Given the description of an element on the screen output the (x, y) to click on. 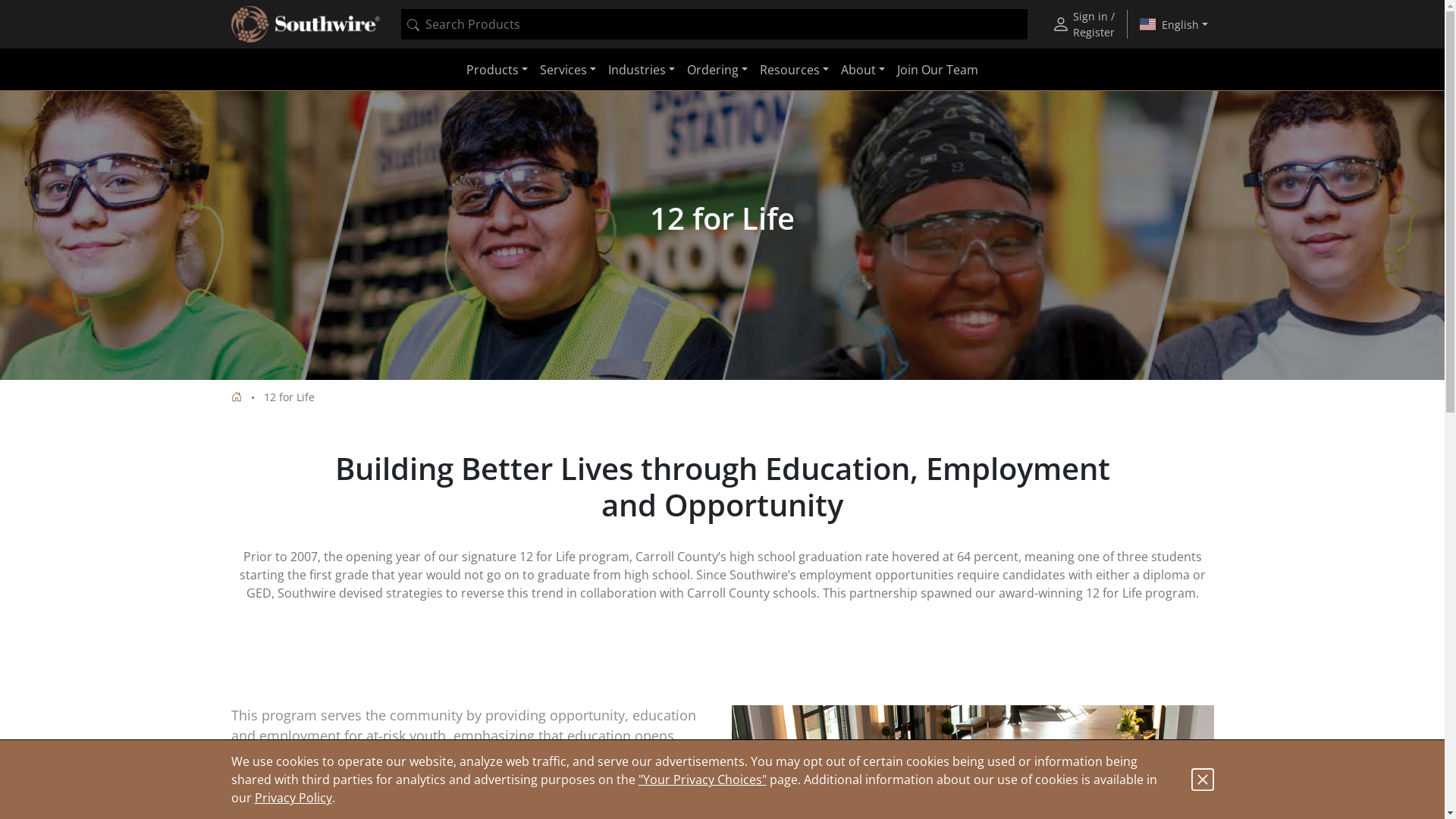
Sign in / Register Element type: text (1082, 24)
About Element type: text (862, 69)
Home Element type: hover (235, 396)
Ordering Element type: text (716, 69)
Southwire Element type: hover (304, 24)
Products Element type: text (496, 69)
Privacy Policy Element type: text (293, 797)
Services Element type: text (567, 69)
Join Our Team Element type: text (937, 69)
English Element type: text (1173, 24)
Resources Element type: text (793, 69)
"Your Privacy Choices" Element type: text (702, 779)
Industries Element type: text (641, 69)
